Given the description of an element on the screen output the (x, y) to click on. 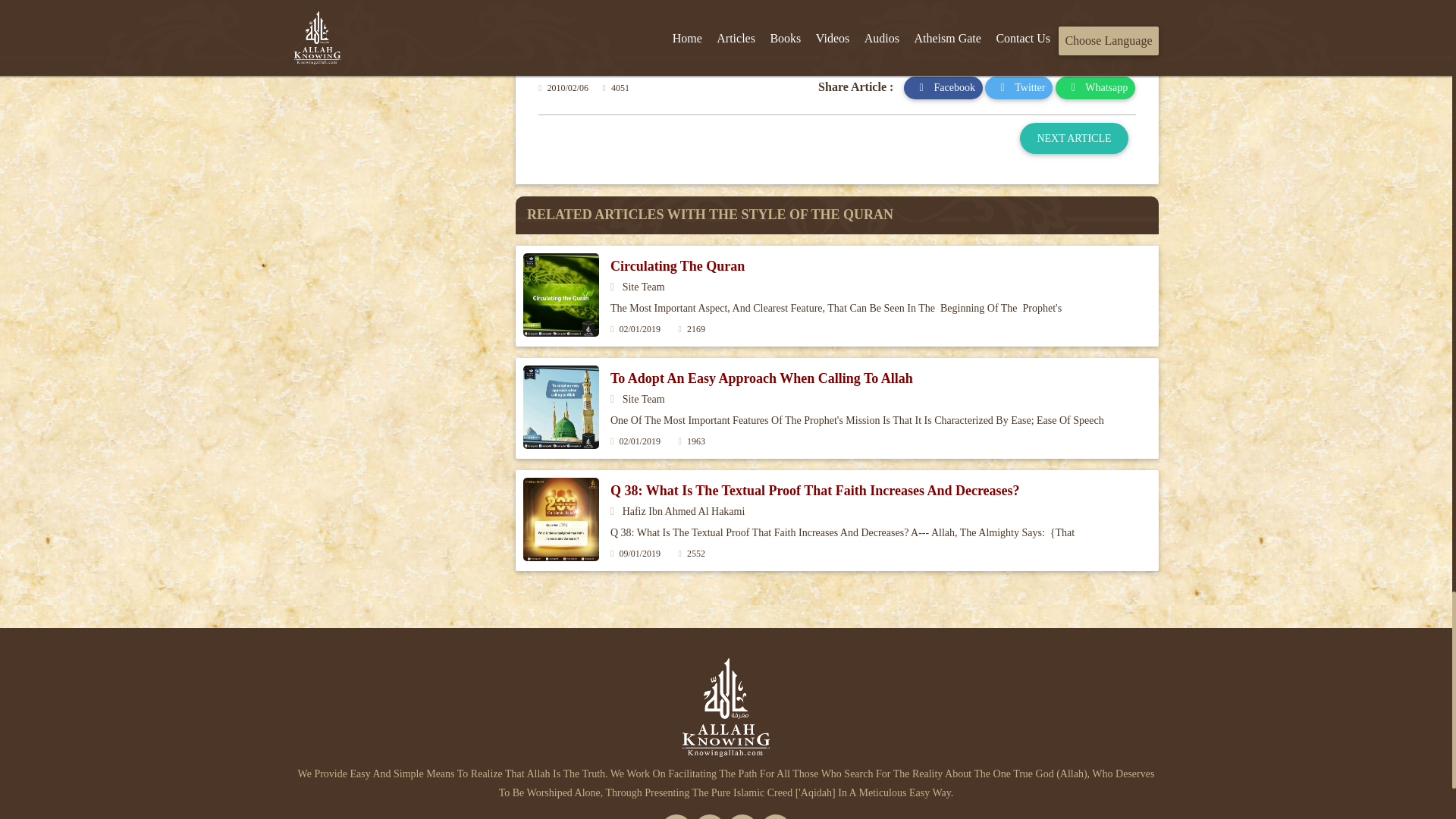
Circulating the Quran (677, 265)
To adopt an easy approach when calling to Allah (761, 378)
